Given the description of an element on the screen output the (x, y) to click on. 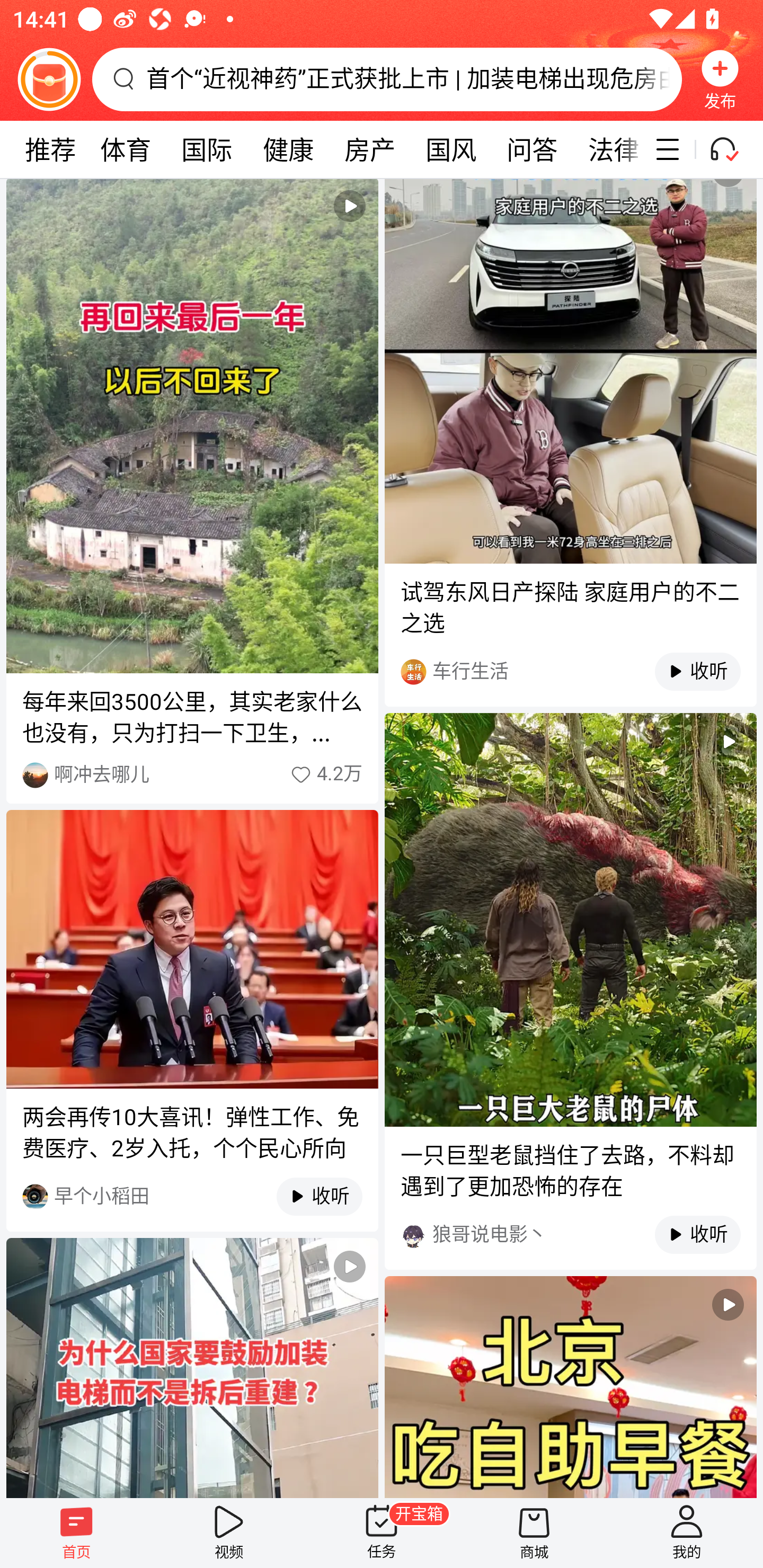
阅读赚金币 (48, 79)
发布 发布，按钮 (720, 78)
推荐 (49, 149)
体育 (125, 149)
国际 (206, 149)
健康 (288, 149)
房产 (369, 149)
国风 (450, 149)
问答 (532, 149)
法律 (608, 149)
听一听开关 (732, 149)
视频 试驾东风日产探陆 家庭用户的不二之选  作者,车行生活,按钮 车行生活 收听 (570, 442)
作者,车行生活,按钮 车行生活 收听 (570, 671)
收听 (687, 671)
作者,啊冲去哪儿,按钮 啊冲去哪儿 赞4.2万 赞 (192, 774)
作者,早个小稻田,按钮 早个小稻田 收听 (192, 1195)
收听 (309, 1196)
作者,狼哥说电影丶,按钮 狼哥说电影丶 收听 (570, 1234)
收听 (687, 1234)
视频 (192, 1367)
视频 (570, 1386)
首页 (76, 1532)
视频 (228, 1532)
任务 开宝箱 (381, 1532)
商城 (533, 1532)
我的 (686, 1532)
